Given the description of an element on the screen output the (x, y) to click on. 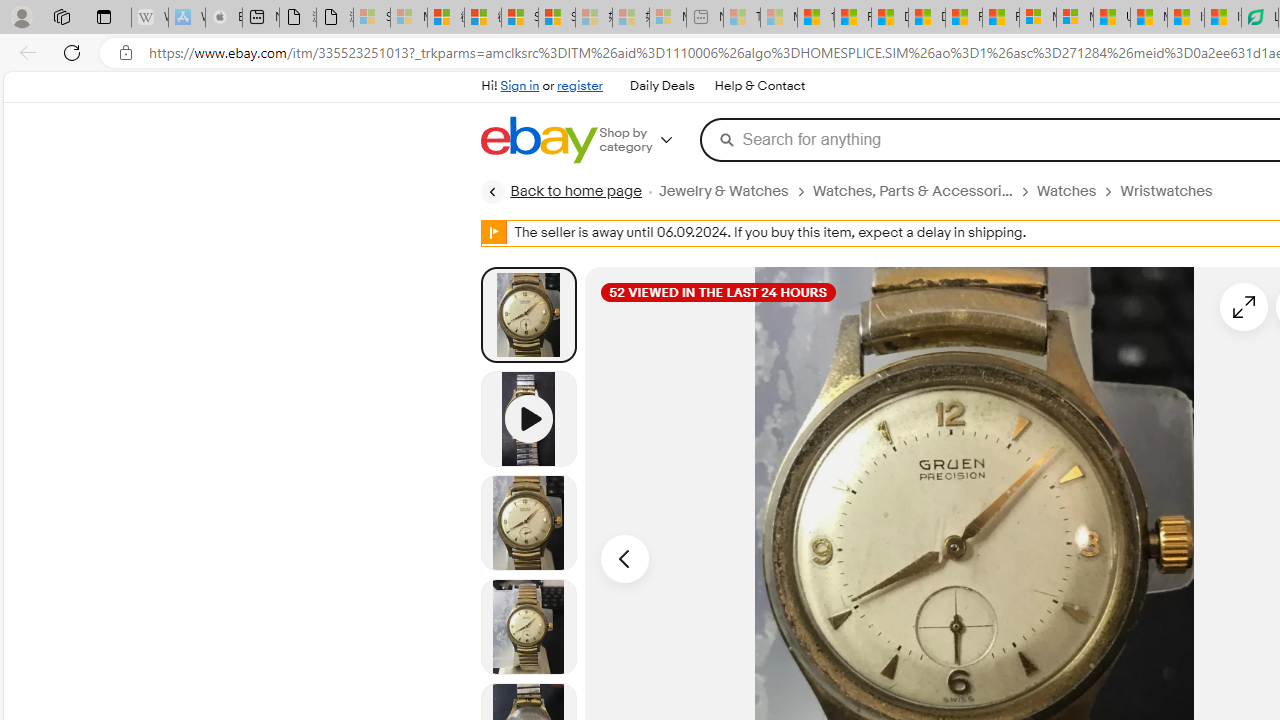
Picture 1 of 13 (528, 313)
Wristwatches (1166, 191)
Opens image gallery (1243, 306)
Marine life - MSN - Sleeping (779, 17)
Microsoft Services Agreement - Sleeping (408, 17)
Video 1 of 1 (528, 417)
Daily Deals (662, 86)
